Given the description of an element on the screen output the (x, y) to click on. 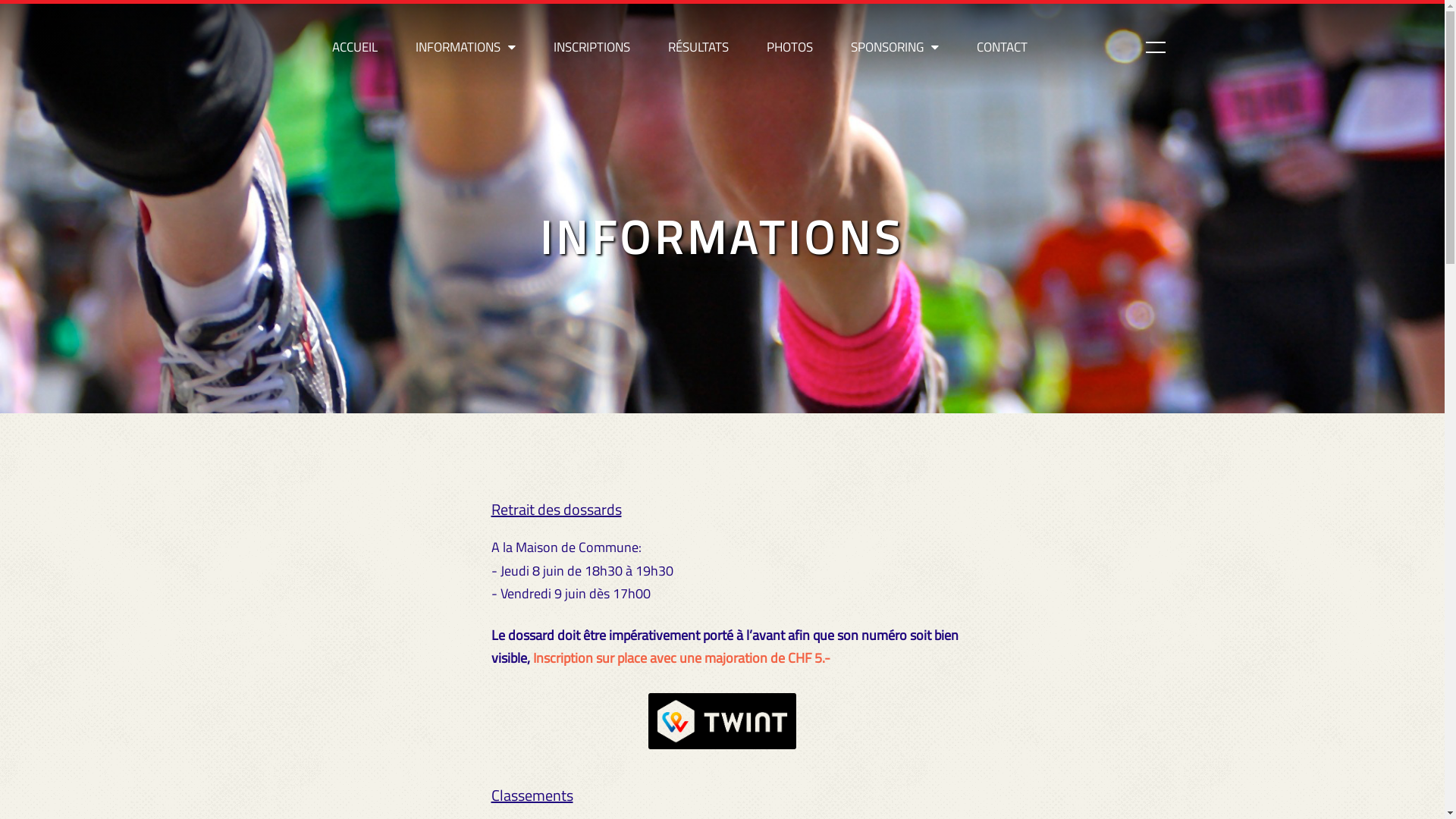
SPONSORING Element type: text (893, 47)
PHOTOS Element type: text (789, 46)
ACCUEIL Element type: text (354, 46)
INFORMATIONS Element type: text (464, 47)
CONTACT Element type: text (1001, 46)
INSCRIPTIONS Element type: text (590, 46)
